Given the description of an element on the screen output the (x, y) to click on. 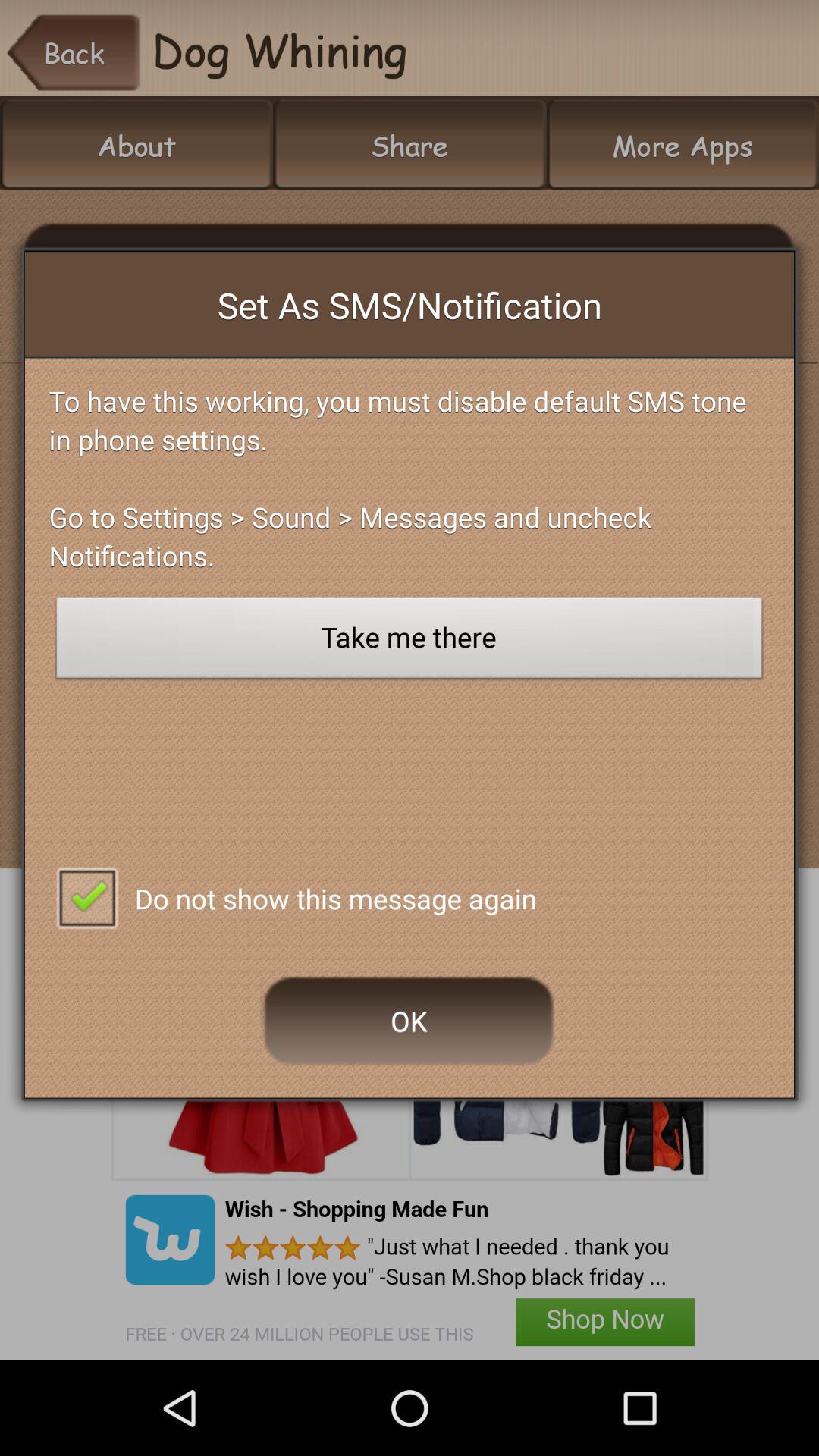
tit the option to correct (86, 896)
